Given the description of an element on the screen output the (x, y) to click on. 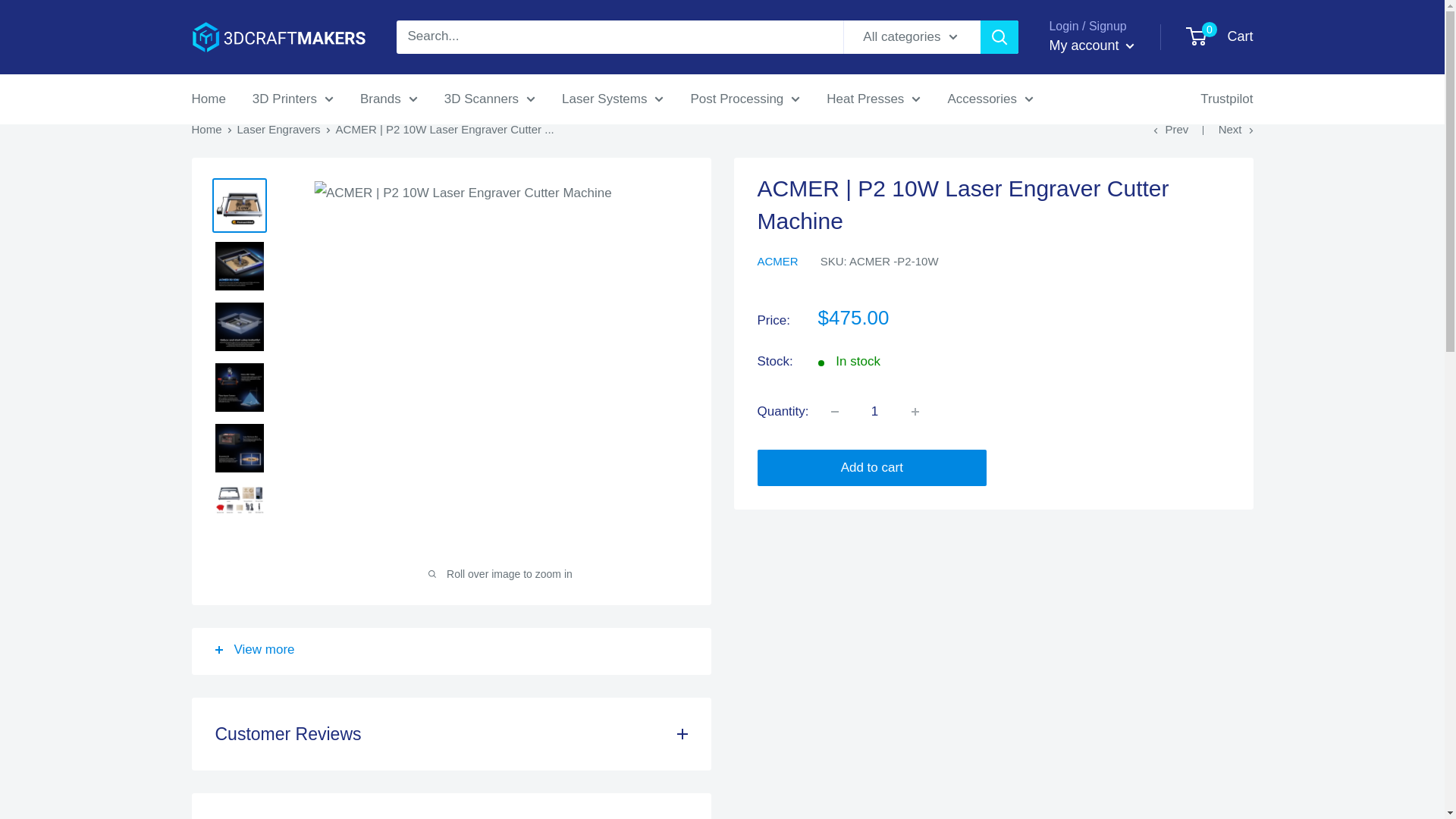
Decrease quantity by 1 (834, 411)
1 (874, 411)
Increase quantity by 1 (915, 411)
